Given the description of an element on the screen output the (x, y) to click on. 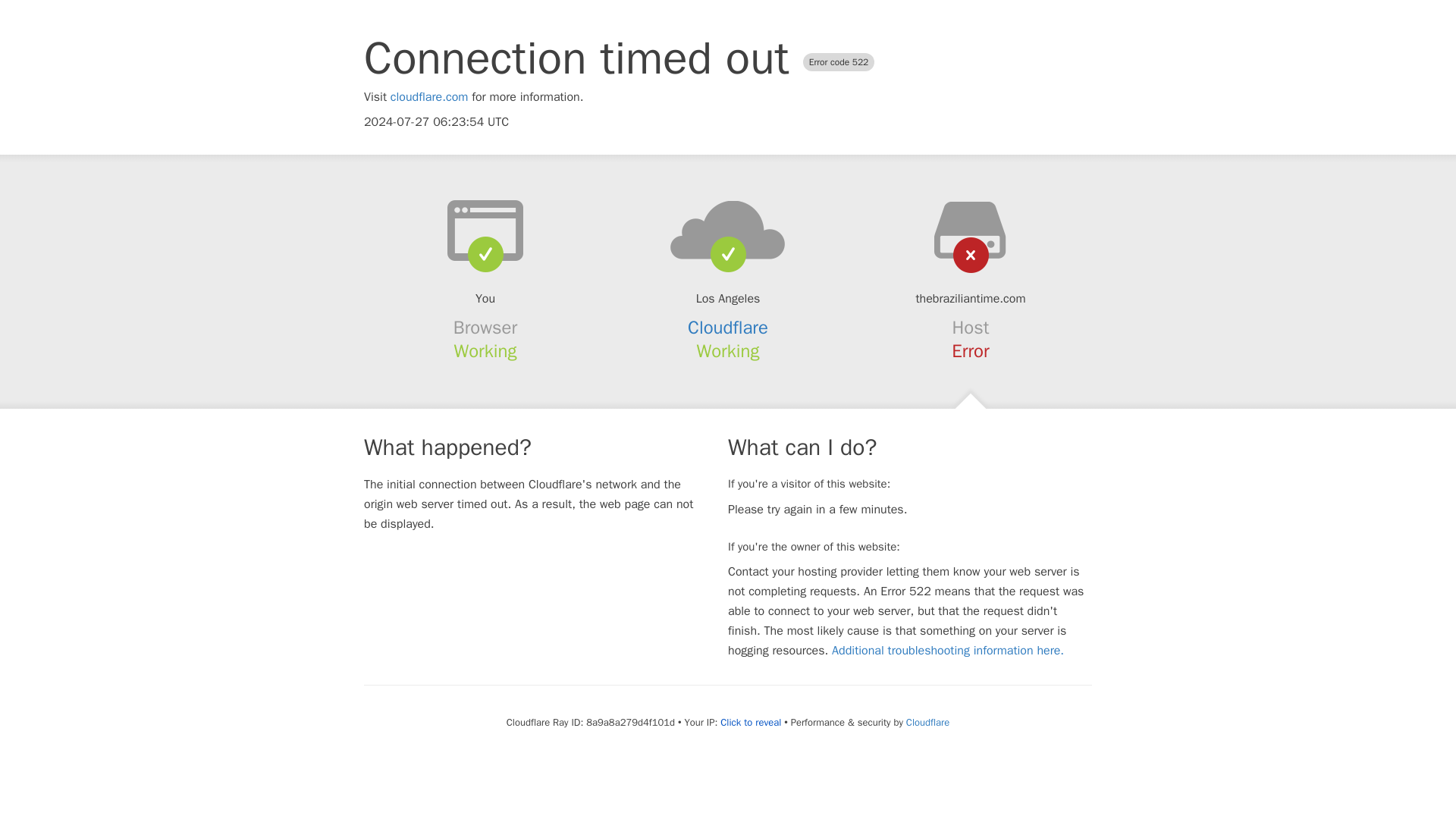
Click to reveal (750, 722)
Additional troubleshooting information here. (947, 650)
Cloudflare (727, 327)
Cloudflare (927, 721)
cloudflare.com (429, 96)
